Given the description of an element on the screen output the (x, y) to click on. 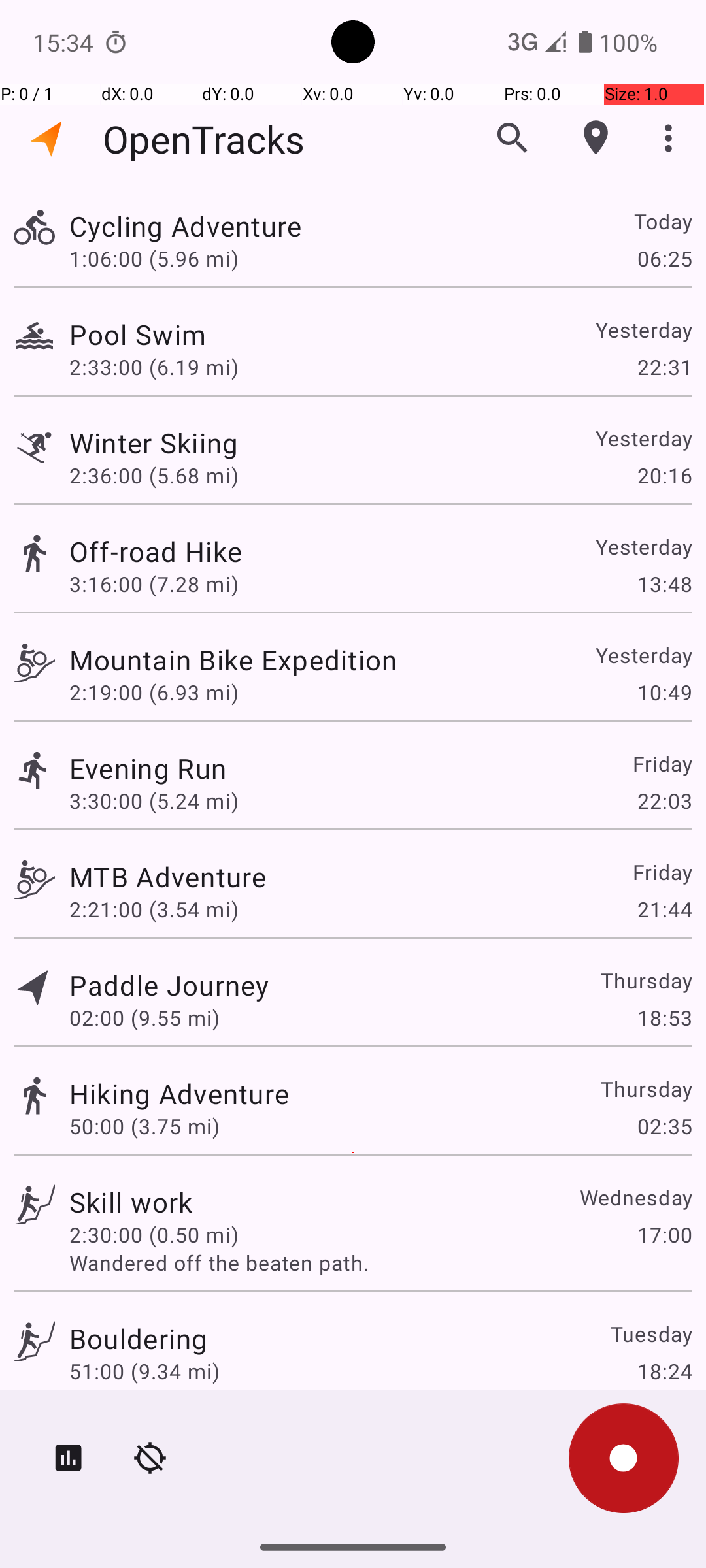
Record Element type: android.widget.ImageButton (623, 1458)
Track Element type: android.widget.ImageView (33, 227)
Cycling Adventure Element type: android.widget.TextView (185, 225)
1:06:00 (5.96 mi) Element type: android.widget.TextView (153, 258)
06:25 Element type: android.widget.TextView (664, 258)
Pool Swim Element type: android.widget.TextView (137, 333)
Yesterday Element type: android.widget.TextView (643, 329)
2:33:00 (6.19 mi) Element type: android.widget.TextView (153, 366)
22:31 Element type: android.widget.TextView (664, 366)
Winter Skiing Element type: android.widget.TextView (153, 442)
2:36:00 (5.68 mi) Element type: android.widget.TextView (153, 475)
20:16 Element type: android.widget.TextView (664, 475)
Off-road Hike Element type: android.widget.TextView (155, 550)
3:16:00 (7.28 mi) Element type: android.widget.TextView (153, 583)
13:48 Element type: android.widget.TextView (664, 583)
Mountain Bike Expedition Element type: android.widget.TextView (233, 659)
2:19:00 (6.93 mi) Element type: android.widget.TextView (153, 692)
10:49 Element type: android.widget.TextView (664, 692)
Evening Run Element type: android.widget.TextView (147, 767)
Friday Element type: android.widget.TextView (661, 763)
3:30:00 (5.24 mi) Element type: android.widget.TextView (153, 800)
22:03 Element type: android.widget.TextView (664, 800)
MTB Adventure Element type: android.widget.TextView (167, 876)
2:21:00 (3.54 mi) Element type: android.widget.TextView (153, 909)
21:44 Element type: android.widget.TextView (664, 909)
Paddle Journey Element type: android.widget.TextView (168, 984)
Thursday Element type: android.widget.TextView (645, 980)
02:00 (9.55 mi) Element type: android.widget.TextView (144, 1017)
18:53 Element type: android.widget.TextView (664, 1017)
Hiking Adventure Element type: android.widget.TextView (178, 1092)
50:00 (3.75 mi) Element type: android.widget.TextView (144, 1125)
02:35 Element type: android.widget.TextView (664, 1125)
Skill work Element type: android.widget.TextView (130, 1201)
Wednesday Element type: android.widget.TextView (635, 1197)
2:30:00 (0.50 mi) Element type: android.widget.TextView (153, 1234)
Wandered off the beaten path. Element type: android.widget.TextView (380, 1262)
Bouldering Element type: android.widget.TextView (138, 1337)
Tuesday Element type: android.widget.TextView (650, 1333)
51:00 (9.34 mi) Element type: android.widget.TextView (144, 1370)
18:24 Element type: android.widget.TextView (664, 1370)
